Given the description of an element on the screen output the (x, y) to click on. 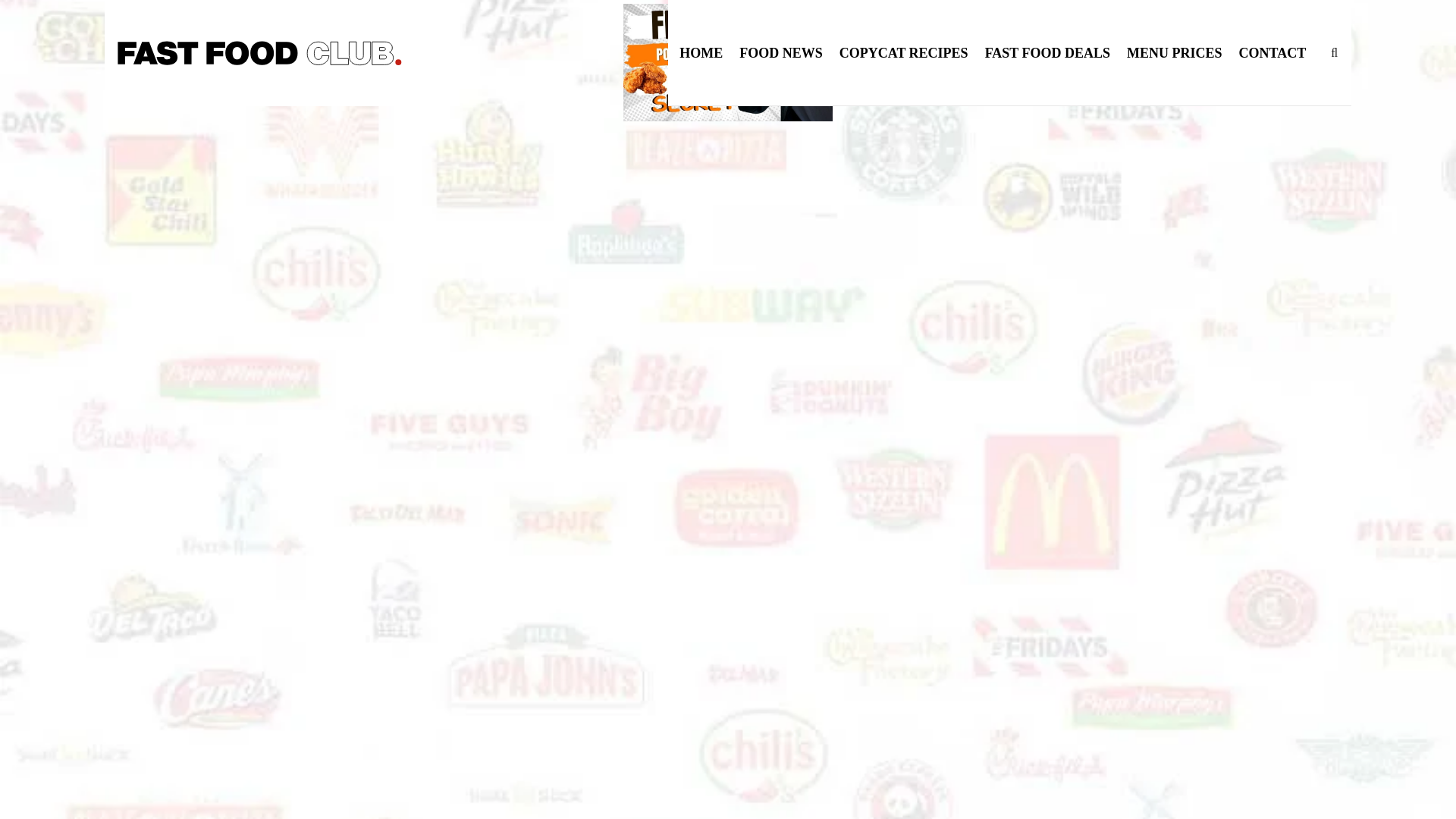
MENU PRICES (1174, 53)
CONTACT (1272, 53)
COPYCAT RECIPES (904, 53)
March 14, 2024 (452, 253)
Kory Alden (368, 253)
FAST FOOD DEALS (1047, 53)
Home (307, 131)
Food News (355, 131)
HOME (700, 53)
FOOD NEWS (780, 53)
